Given the description of an element on the screen output the (x, y) to click on. 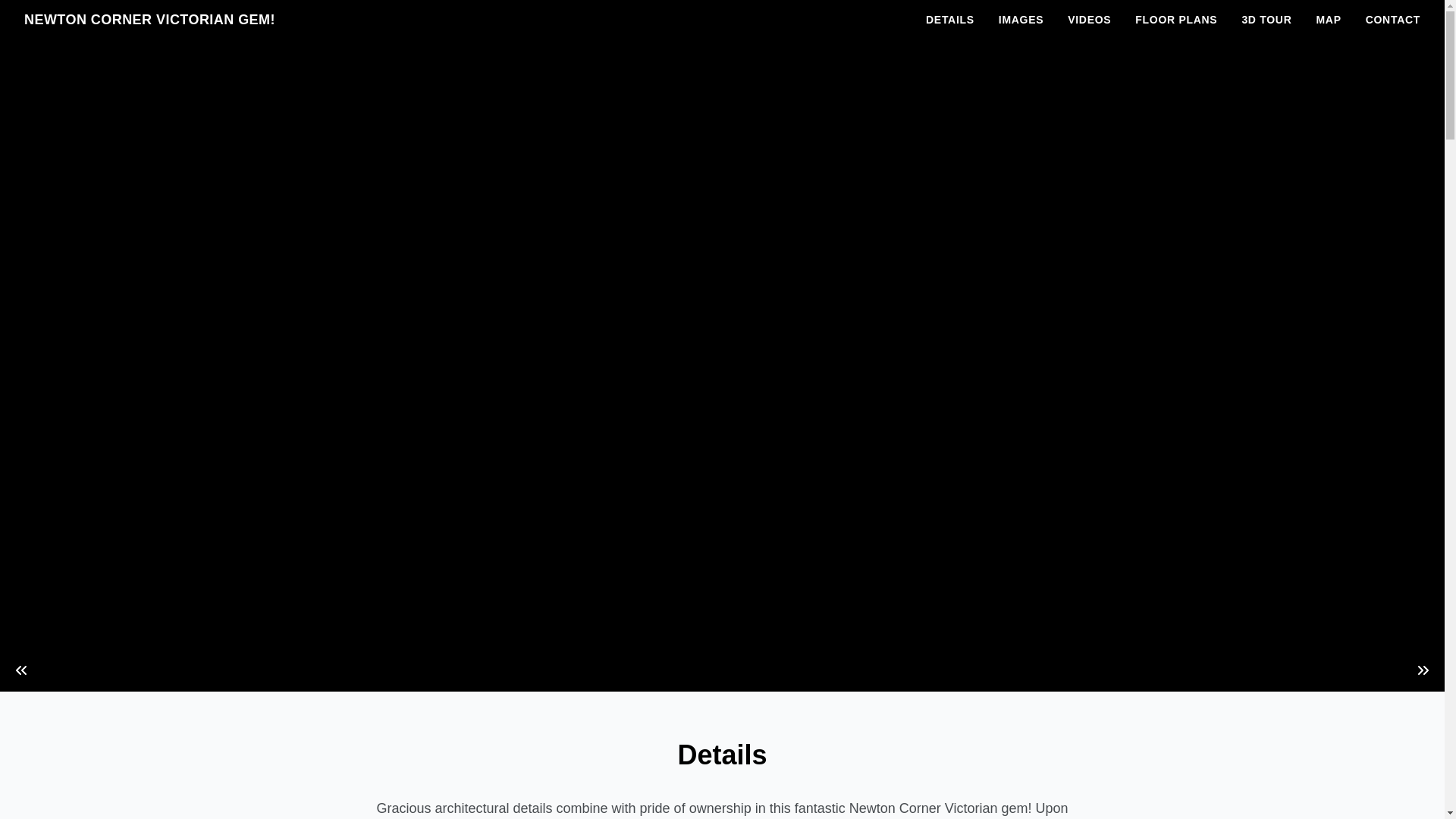
FLOOR PLANS Element type: text (1176, 19)
IMAGES Element type: text (1020, 19)
NEWTON CORNER VICTORIAN GEM! Element type: text (149, 19)
DETAILS Element type: text (949, 19)
Next Photo Element type: text (1423, 670)
CONTACT Element type: text (1392, 19)
VIDEOS Element type: text (1089, 19)
Previous Photo Element type: text (21, 670)
MAP Element type: text (1327, 19)
3D TOUR Element type: text (1266, 19)
